Given the description of an element on the screen output the (x, y) to click on. 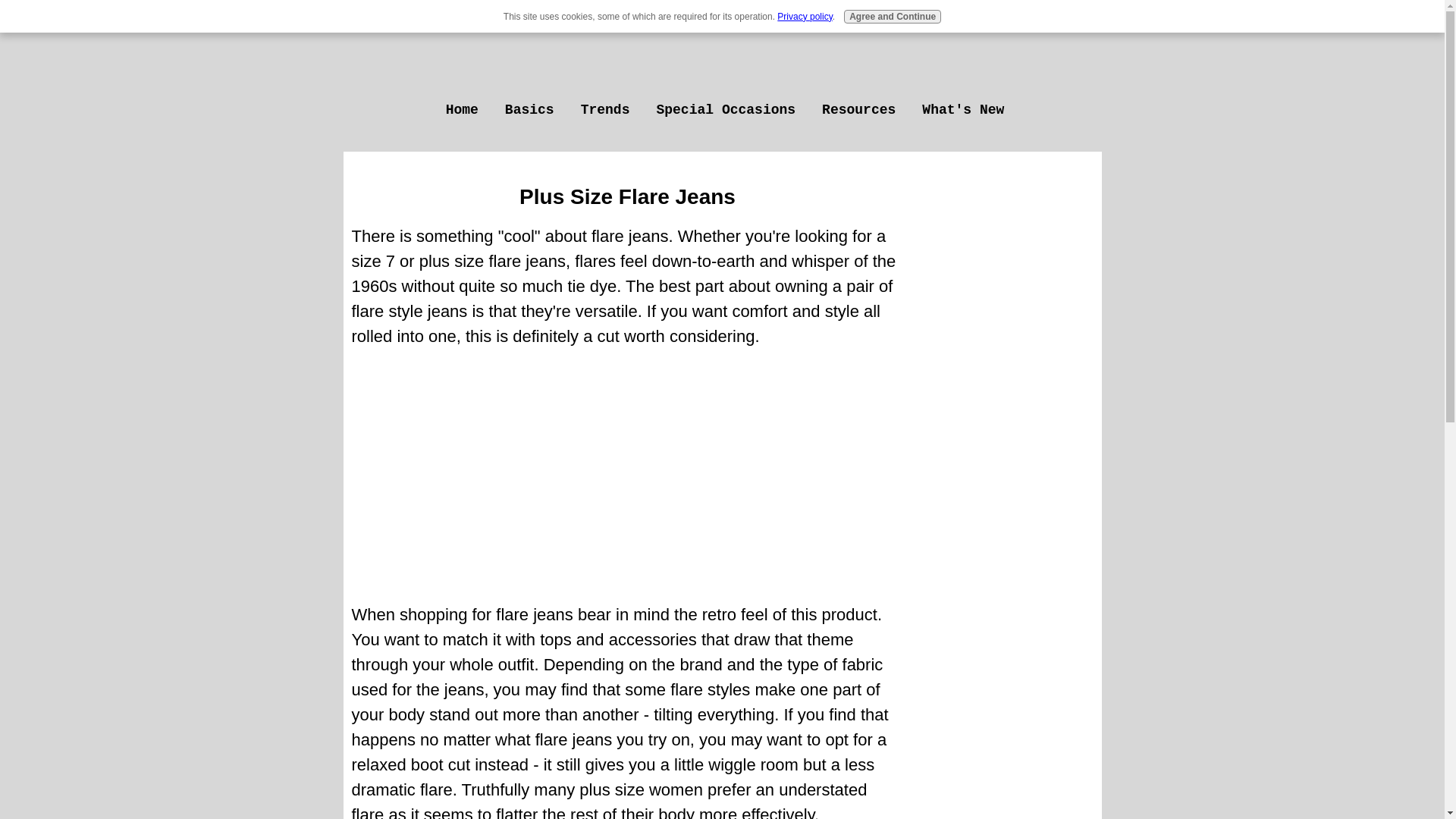
Trendy Plus Size Clothes (721, 49)
Privacy policy (804, 16)
Home (459, 109)
Agree and Continue (892, 16)
plus-size-flare-jeans.jpg (627, 473)
